Given the description of an element on the screen output the (x, y) to click on. 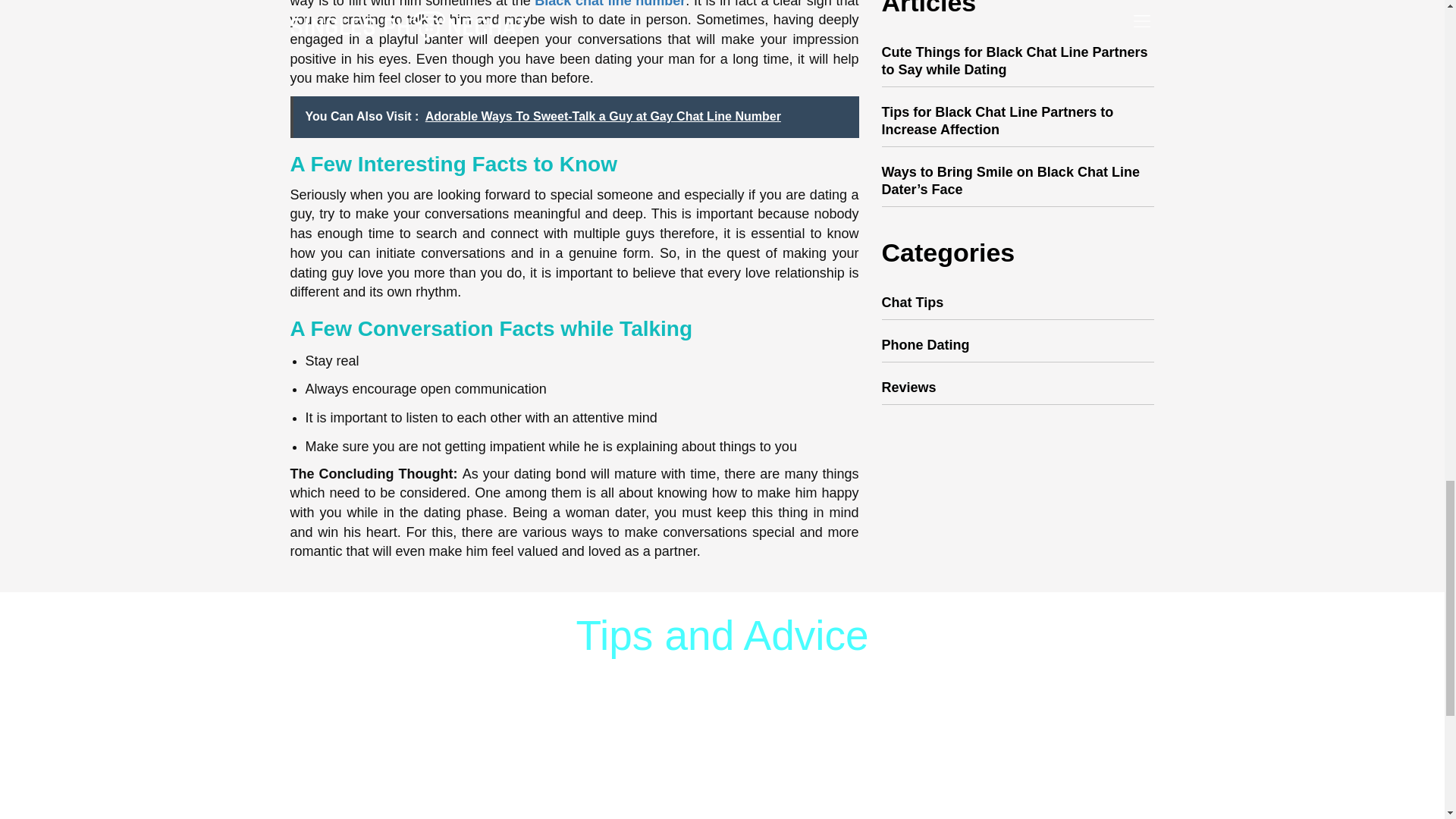
Black chat line number (609, 4)
